Given the description of an element on the screen output the (x, y) to click on. 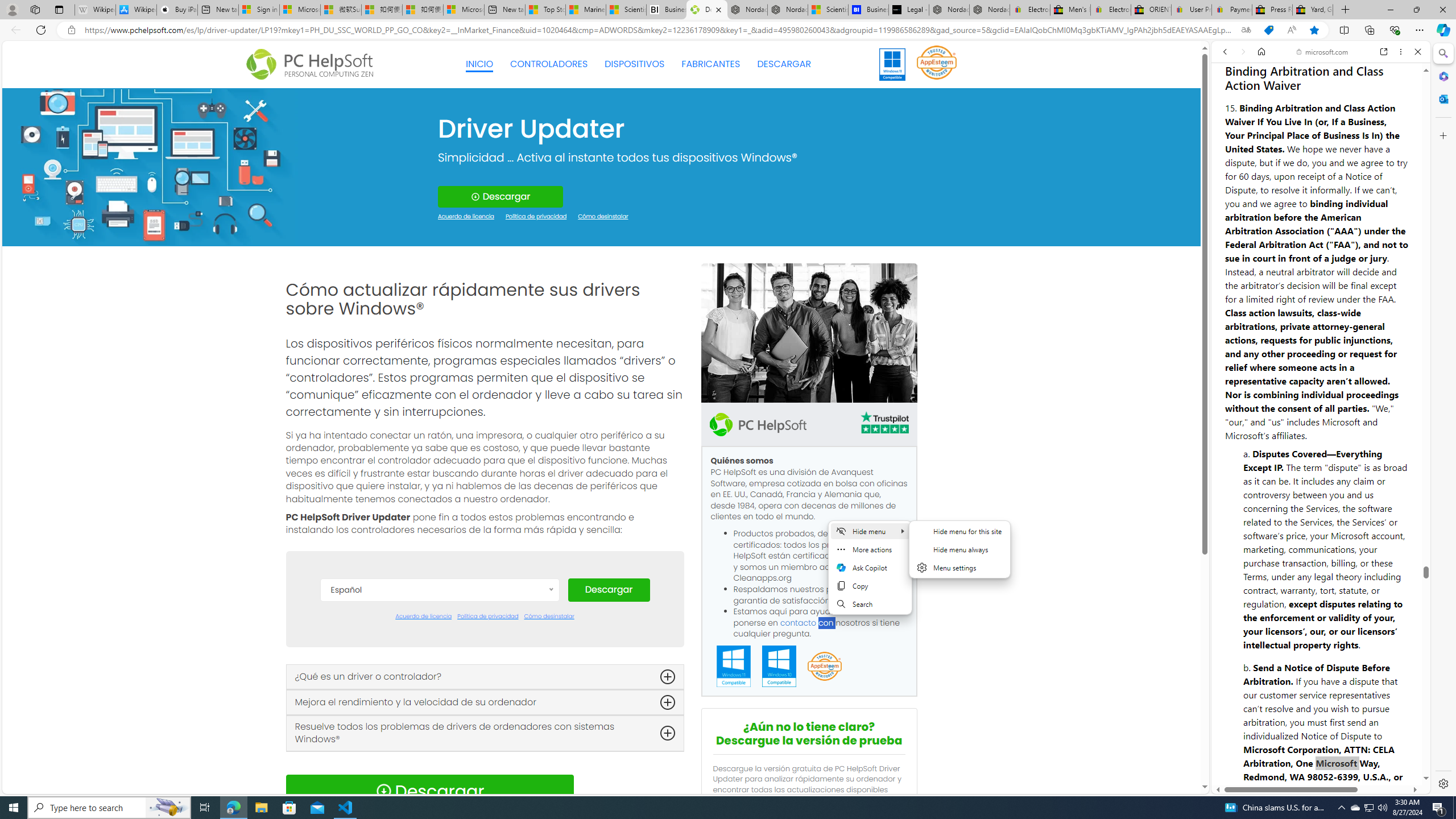
Privacy (1252, 751)
Microsoft Services Agreement (299, 9)
Sign in to your Microsoft account (258, 9)
Open link in new tab (1383, 51)
contacto (798, 622)
Mini menu on text selection (870, 574)
Privacy (1252, 757)
Marine life - MSN (585, 9)
Download Icon (383, 791)
TrustPilot (884, 422)
Feedback (1384, 757)
Press Room - eBay Inc. (1272, 9)
